Given the description of an element on the screen output the (x, y) to click on. 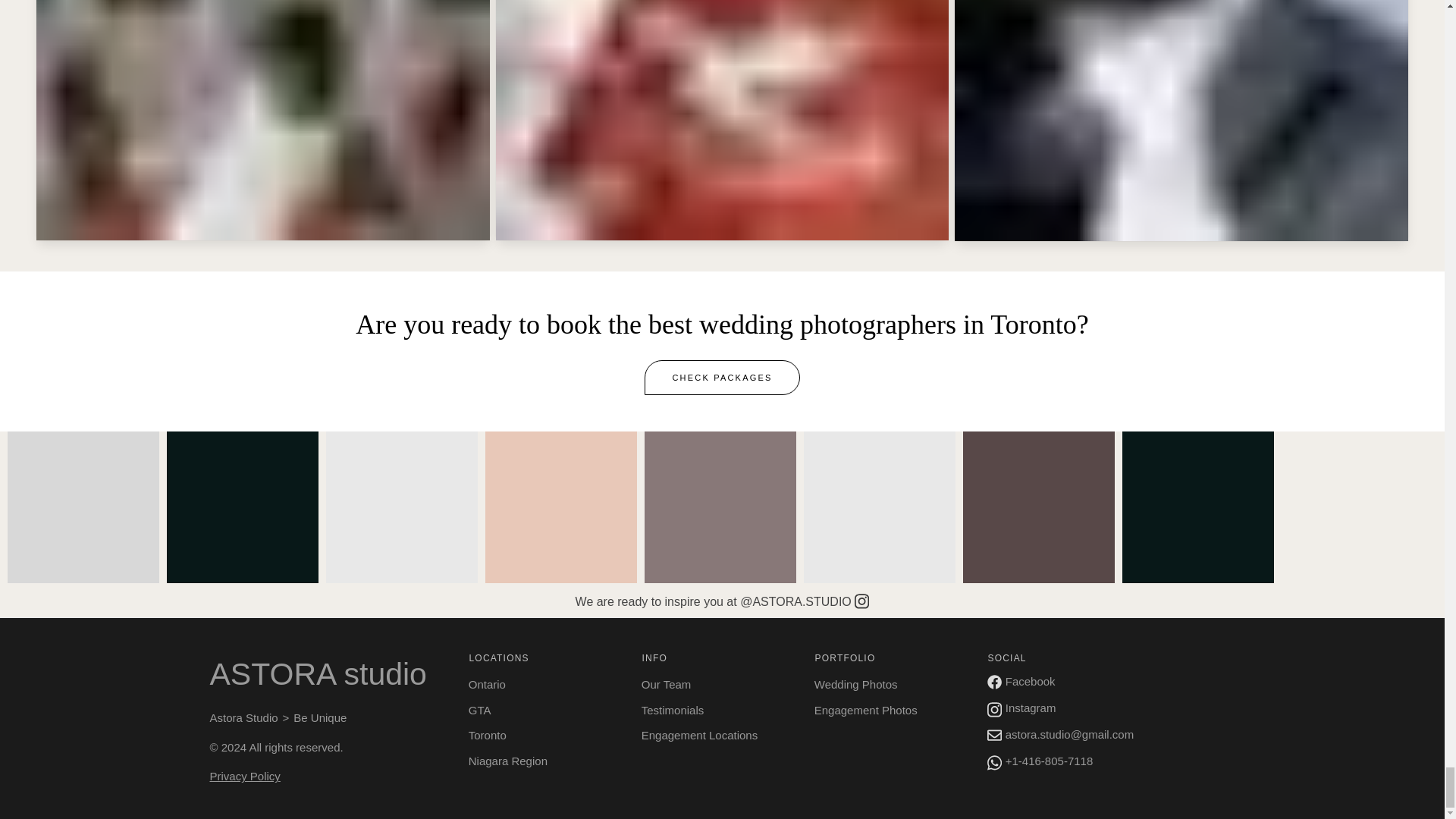
Chinese wedding photographer Toronto (722, 120)
CHECK PACKAGES (722, 377)
Astora Studio (243, 717)
Ontario (544, 684)
ASTORA studio (333, 674)
Our Team (716, 684)
Engagement Photos (890, 710)
Niagara Region (544, 761)
The Guild Inn Estate Wedding Photos (262, 120)
Wedding Photos (890, 684)
